Given the description of an element on the screen output the (x, y) to click on. 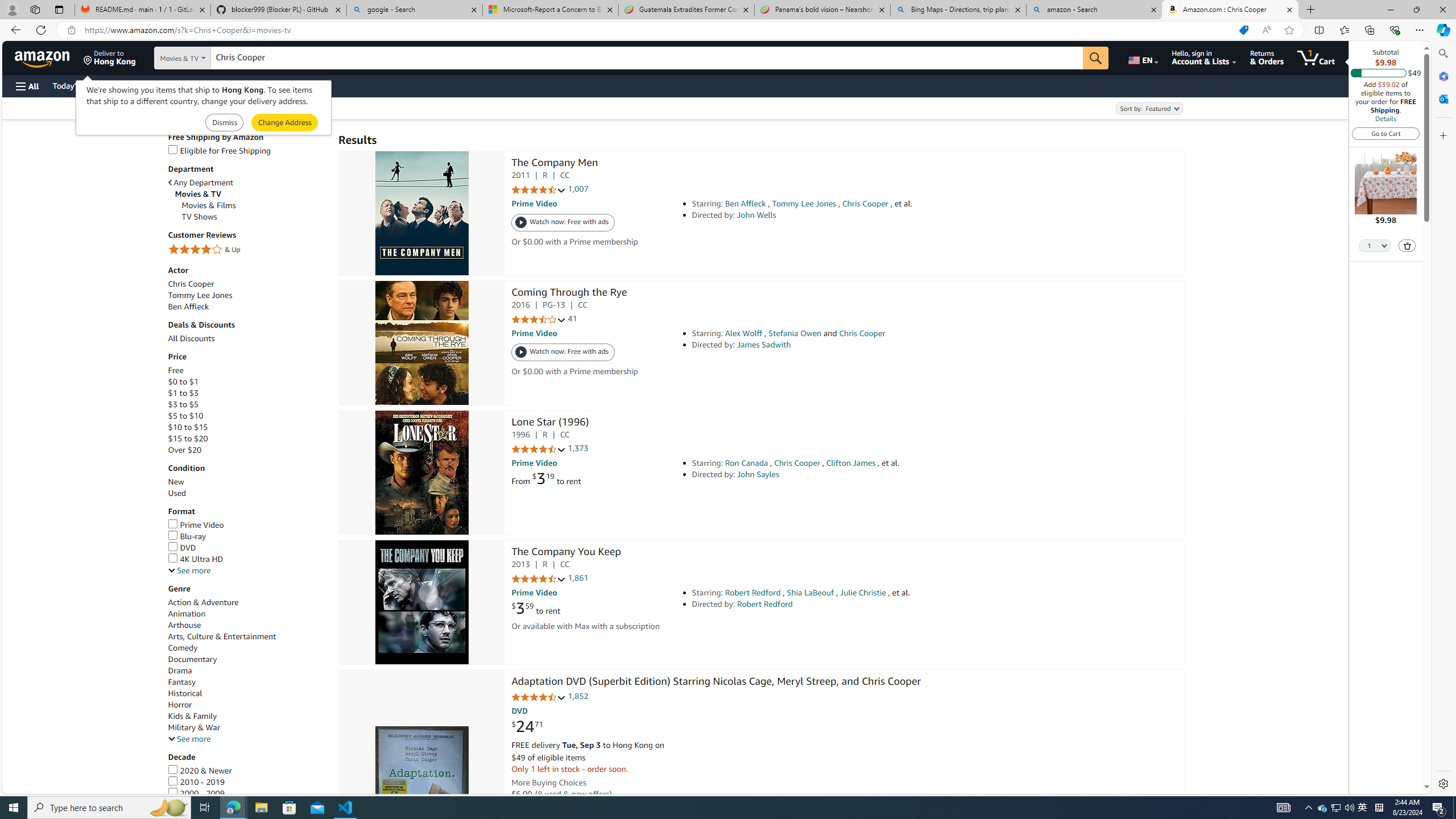
Chris Cooper (190, 283)
2000 - 2009 (195, 793)
Comedy (182, 647)
Action & Adventure (202, 602)
Today's Deals (76, 85)
The Company You Keep (566, 552)
Search in (210, 58)
Lone Star (1996) (421, 472)
Military & War (247, 727)
Robert Redford (764, 603)
$1 to $3 (183, 393)
Used (247, 492)
Customer Service (145, 85)
4 Stars & Up& Up (247, 250)
